Given the description of an element on the screen output the (x, y) to click on. 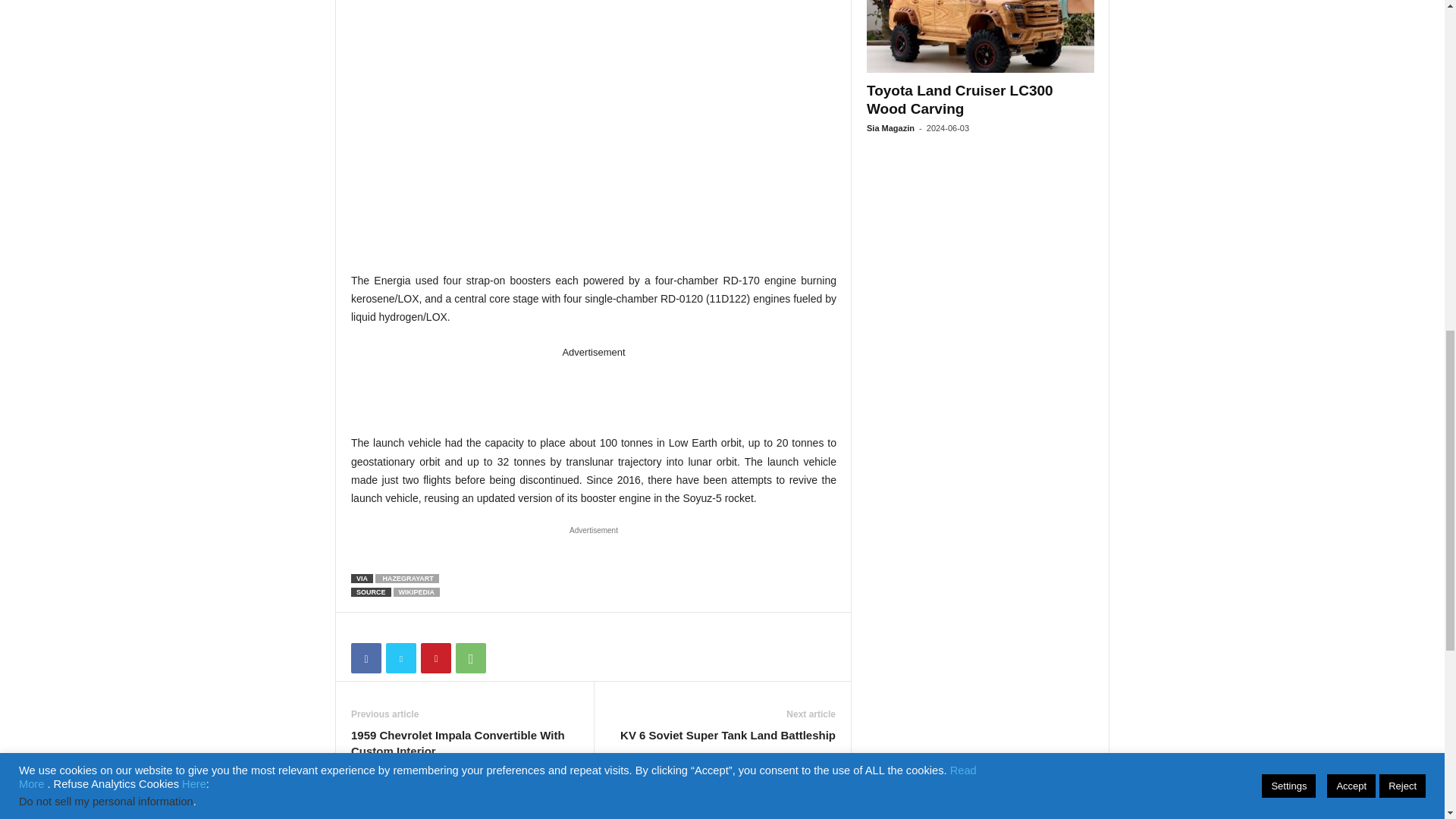
MORE FROM AUTHOR (513, 811)
KV 6 Soviet Super Tank Land Battleship (727, 734)
WIKIPEDIA (417, 592)
bottomFacebookLike (390, 627)
Twitter (400, 657)
Facebook (365, 657)
HAZEGRAYART (407, 578)
1959 Chevrolet Impala Convertible With Custom Interior (464, 743)
YouTube video player (592, 124)
RELATED ARTICLES (404, 811)
